Given the description of an element on the screen output the (x, y) to click on. 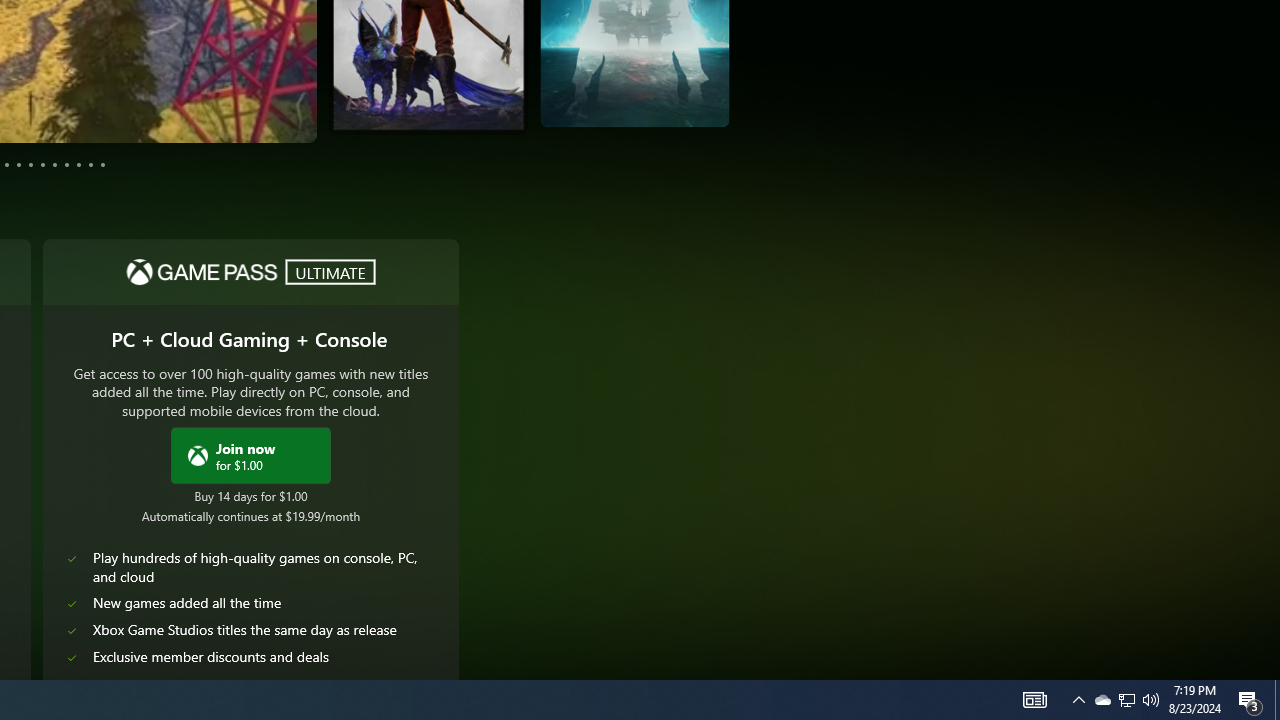
Still Wakes the Deep (467, 79)
